Given the description of an element on the screen output the (x, y) to click on. 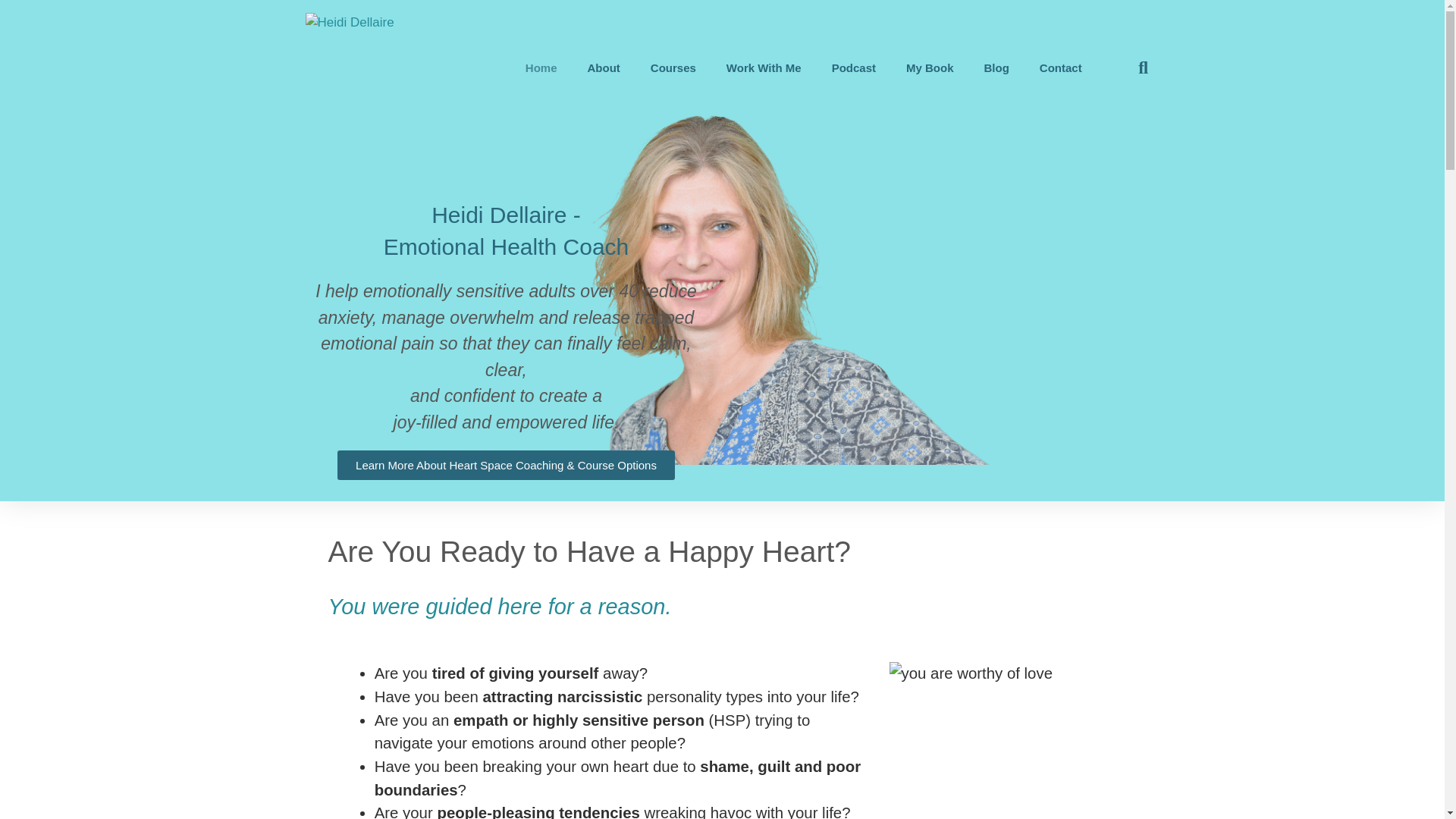
My Book (930, 67)
Work With Me (763, 67)
Home (536, 67)
Contact (1061, 67)
Podcast (853, 67)
Courses (672, 67)
Blog (997, 67)
About (601, 67)
